Given the description of an element on the screen output the (x, y) to click on. 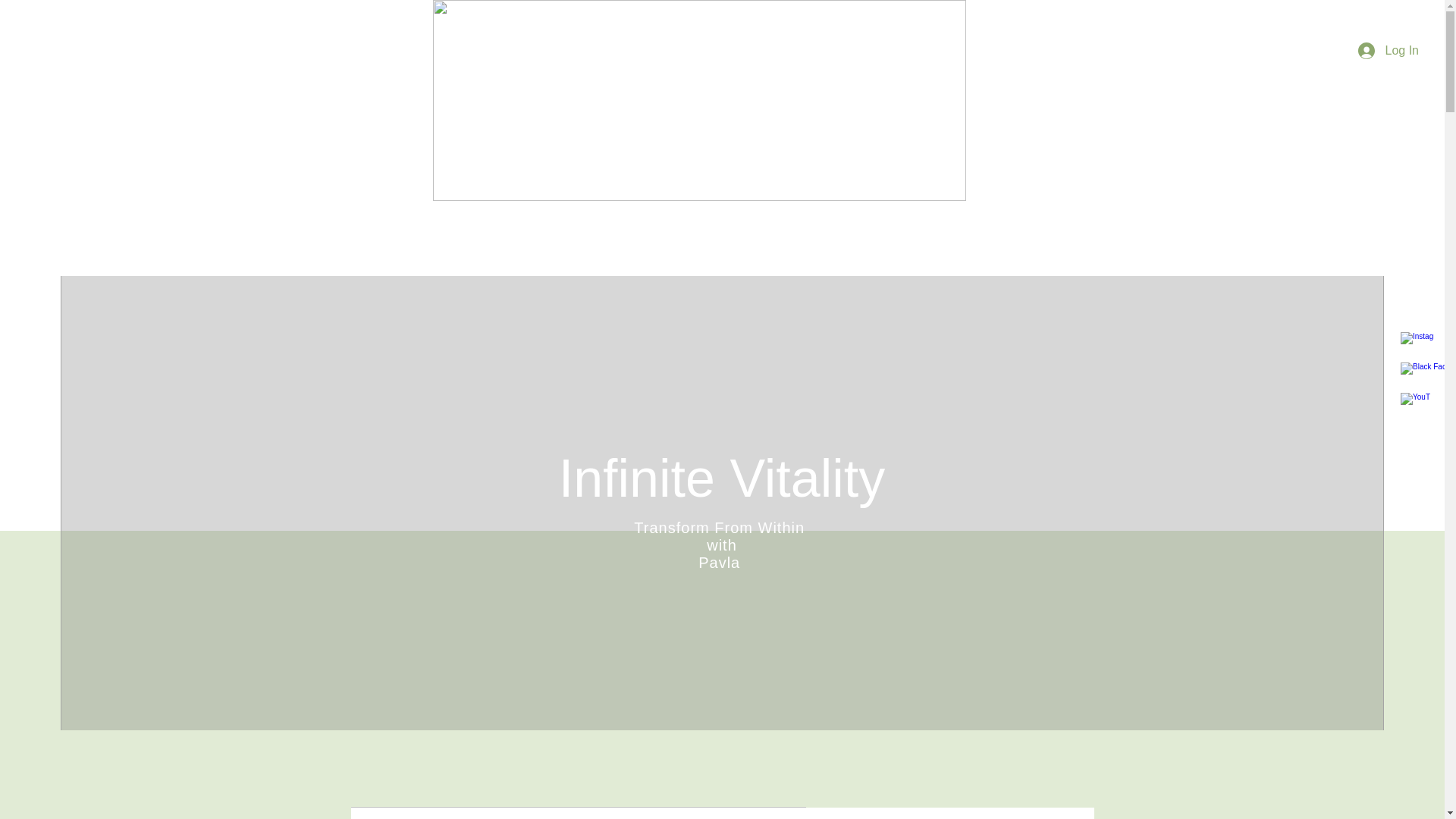
Log In (1388, 50)
